Given the description of an element on the screen output the (x, y) to click on. 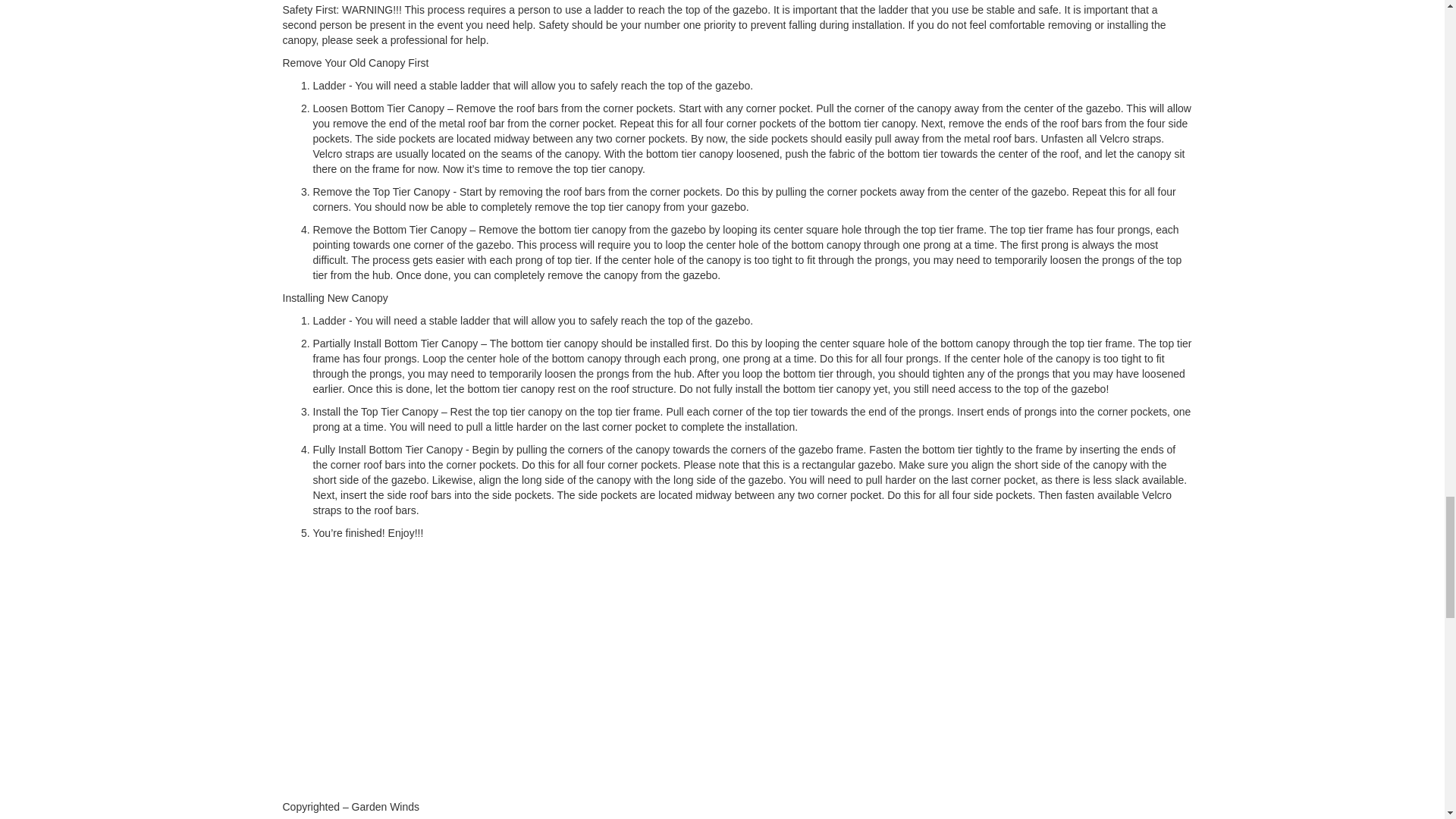
YouTube video player (494, 667)
